Given the description of an element on the screen output the (x, y) to click on. 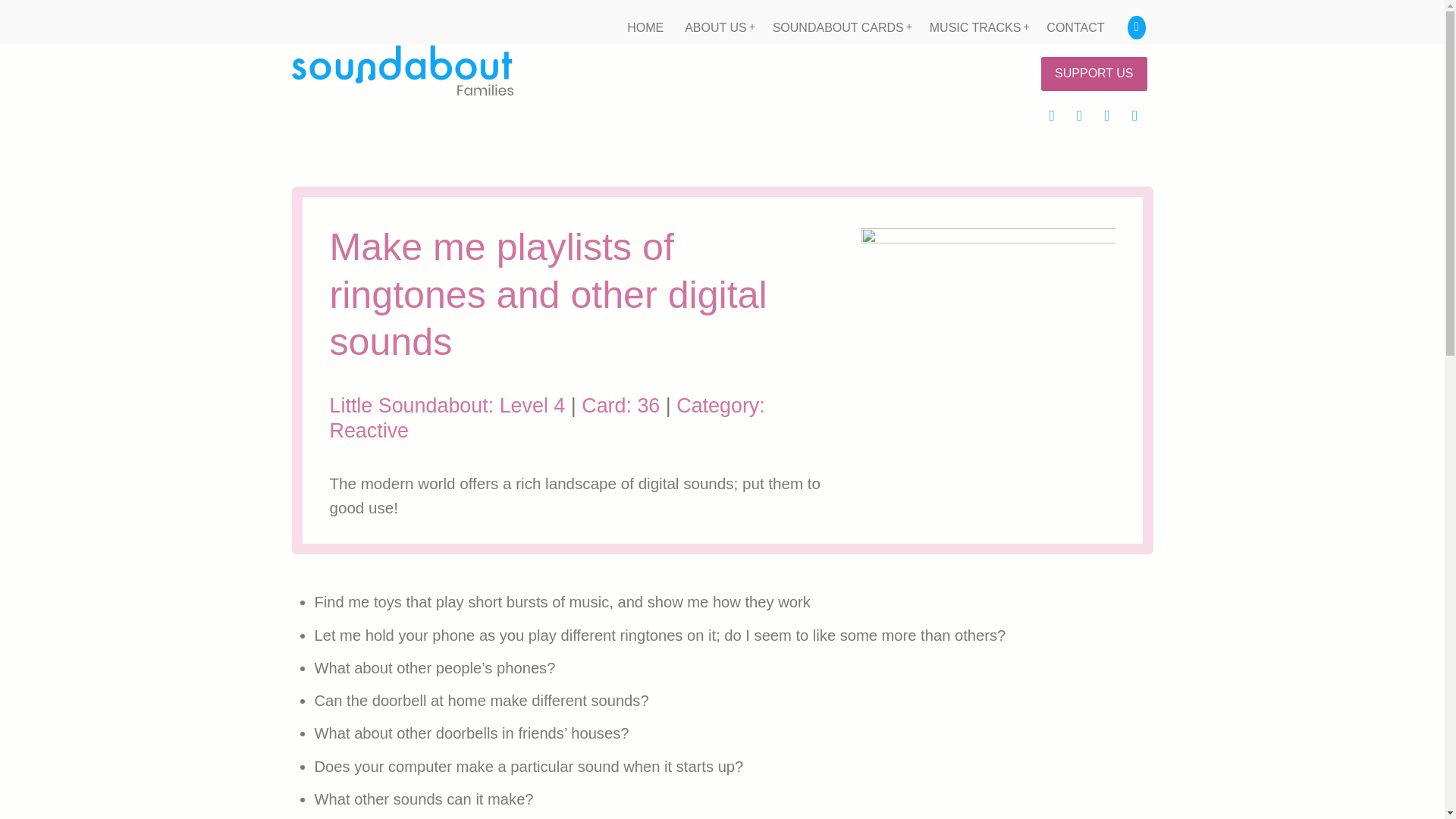
SOUNDABOUT CARDS (839, 28)
Soundabout Family (446, 166)
CONTACT (1075, 28)
HOME (644, 28)
MUSIC TRACKS (977, 28)
SUPPORT US (1094, 73)
ABOUT US (717, 28)
